Given the description of an element on the screen output the (x, y) to click on. 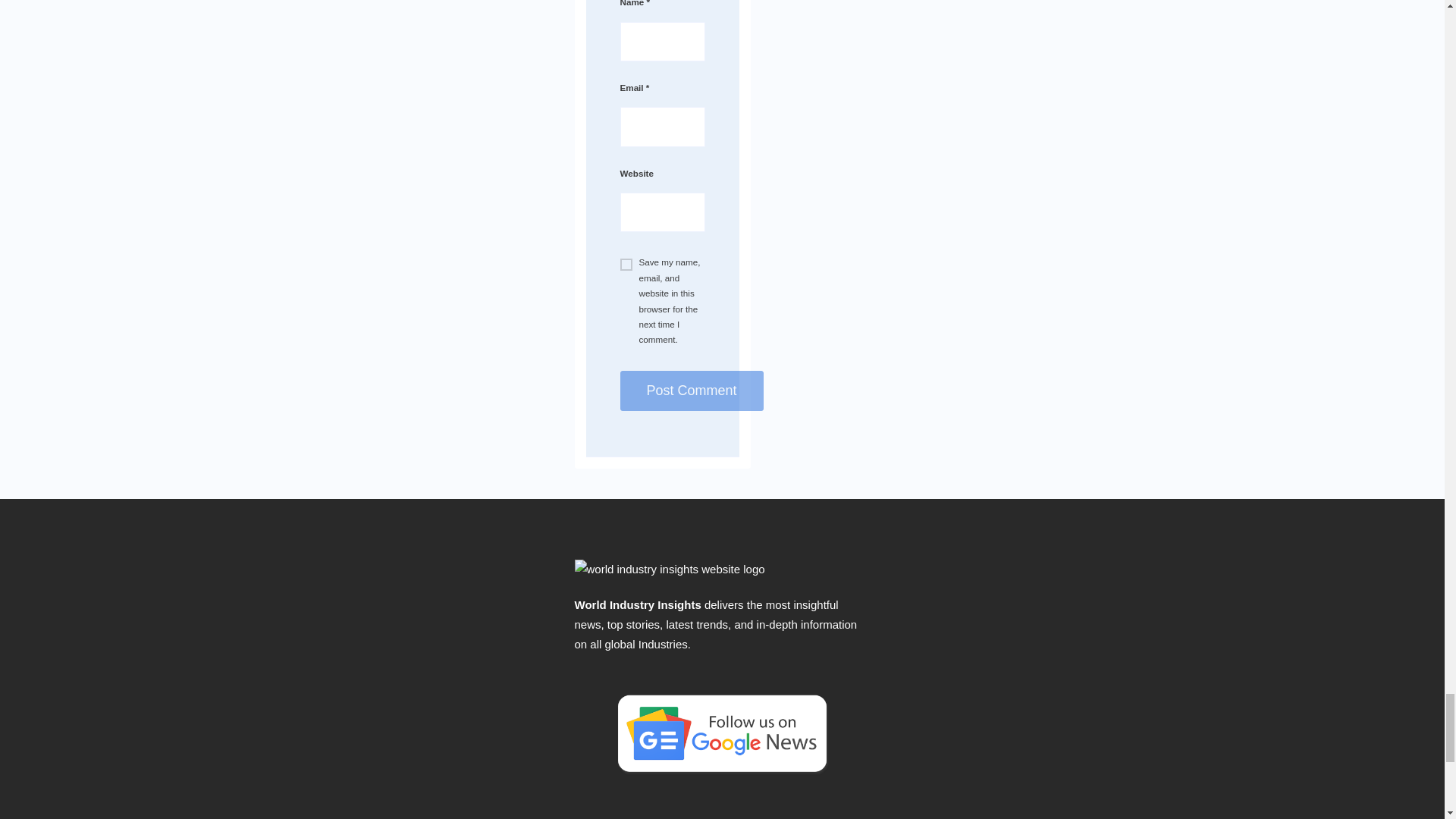
Post Comment (691, 391)
Post Comment (691, 391)
